Given the description of an element on the screen output the (x, y) to click on. 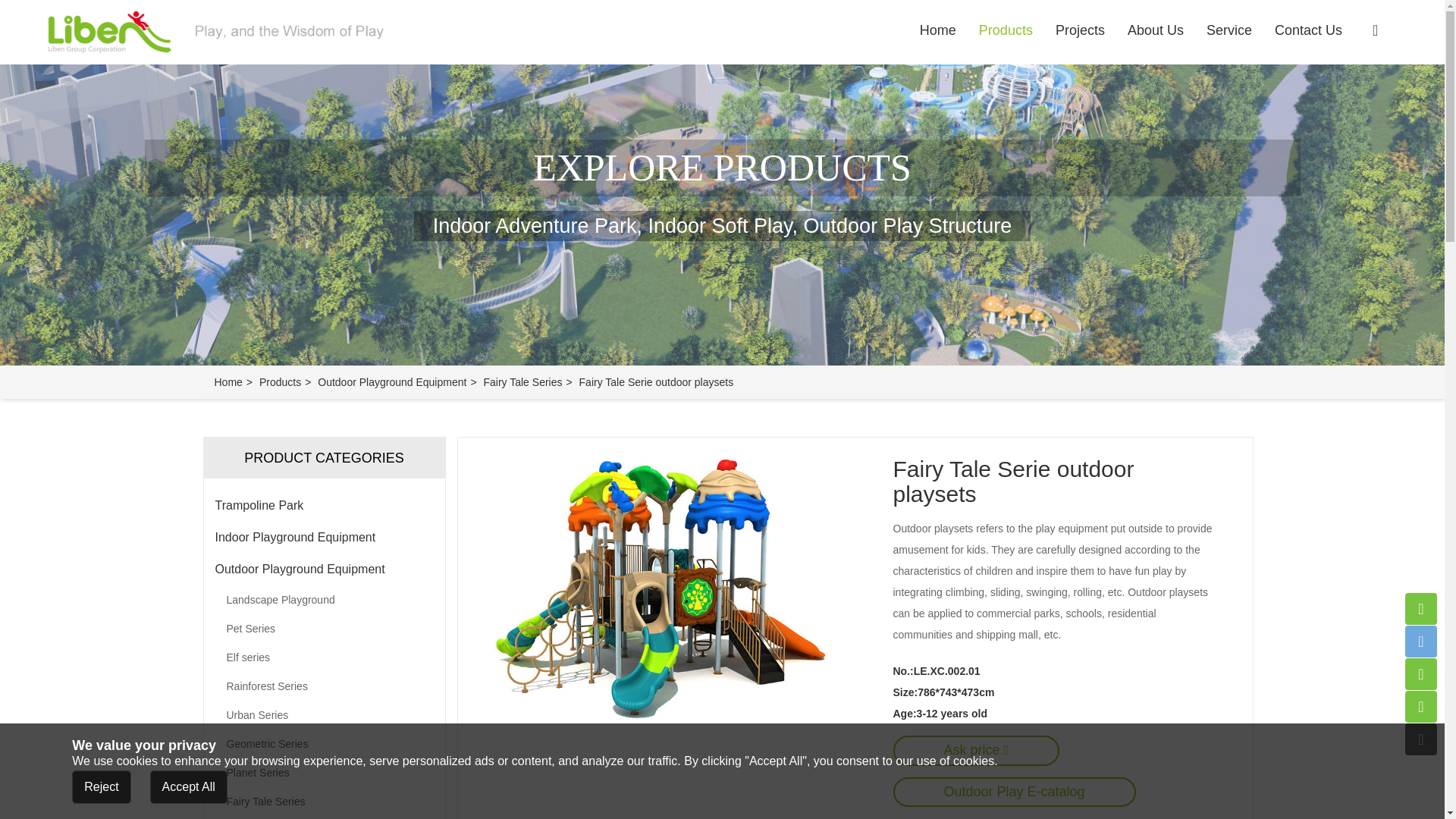
Planet Series (323, 772)
Outdoor Playground Equipment (391, 381)
Landscape Playground (323, 599)
Products (280, 381)
Indoor Playground Equipment (324, 537)
Geometric Series (323, 743)
Home (227, 381)
Rainforest Series (323, 686)
Outdoor Playground Equipment (324, 569)
Pet Series (323, 628)
About Us (1155, 30)
Indoor Playground Equipment (324, 537)
Landscape Playground (323, 599)
Elf series (323, 656)
Trampoline Park (324, 505)
